Given the description of an element on the screen output the (x, y) to click on. 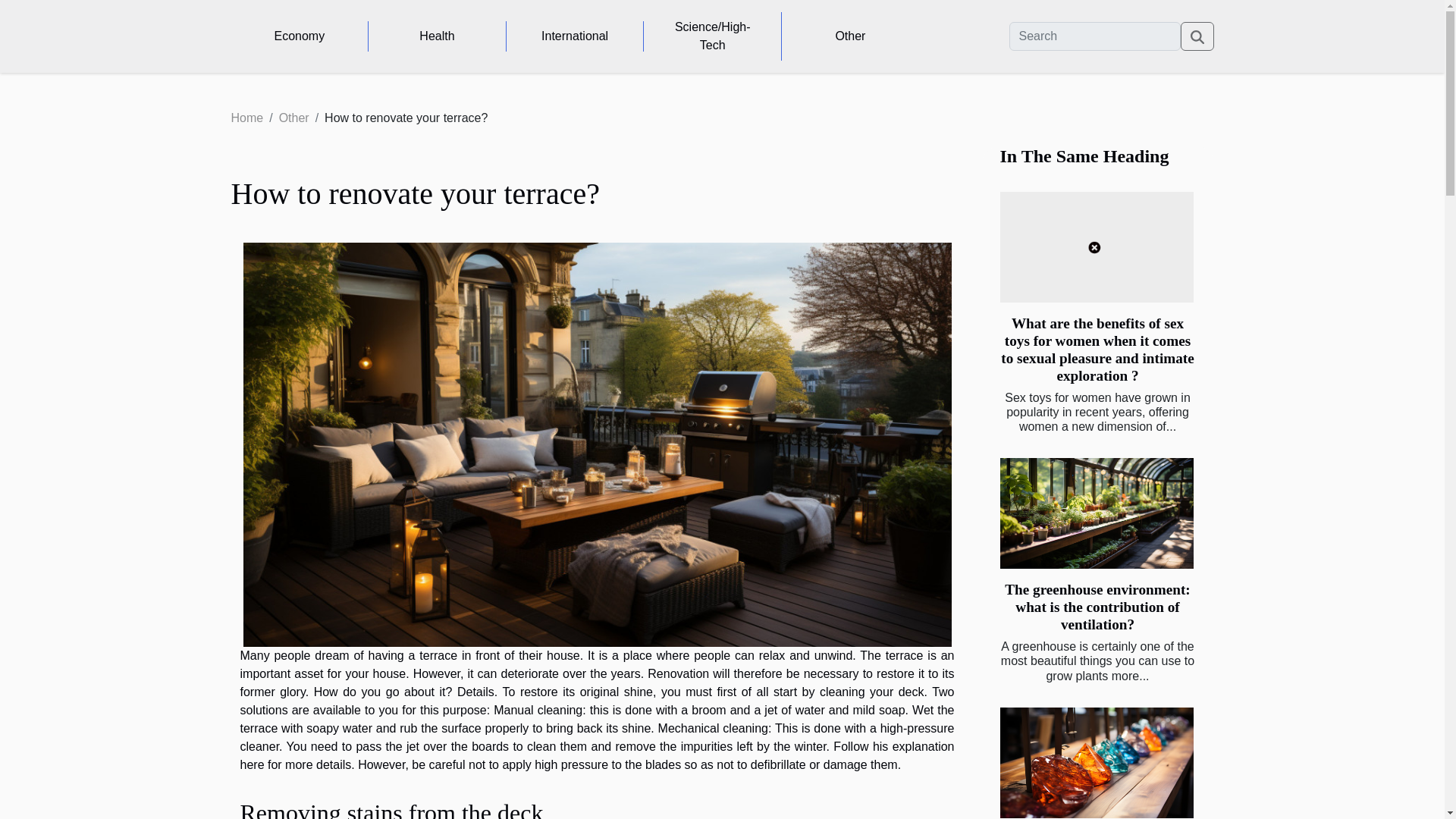
Why use epoxy resin ? (1095, 762)
Other (293, 117)
Health (436, 36)
Economy (299, 36)
Other (293, 117)
International (574, 36)
Home (246, 117)
Other (850, 36)
